Given the description of an element on the screen output the (x, y) to click on. 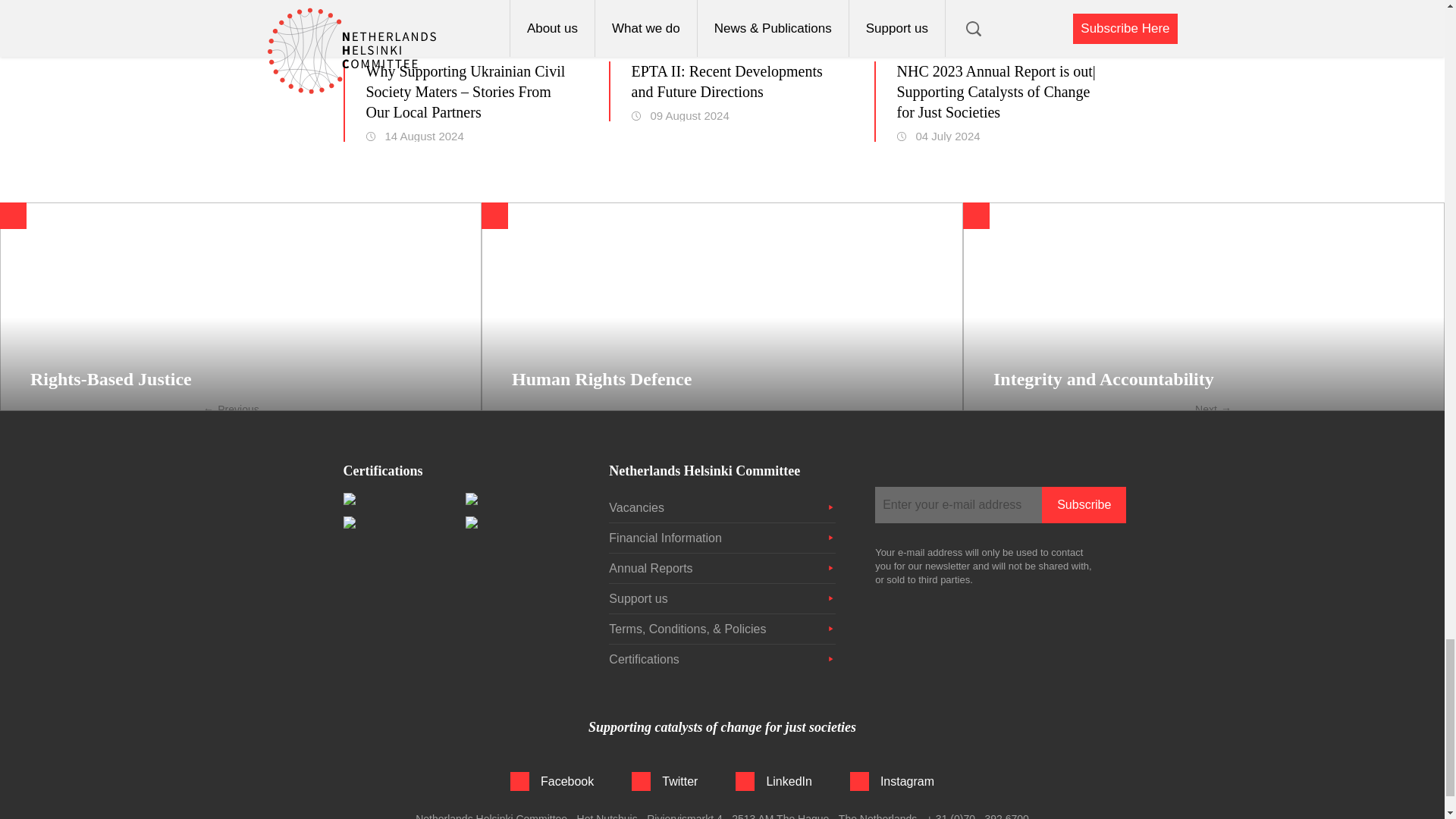
Rights-Based Justice (240, 306)
Subscribe (1083, 504)
EPTA II: Recent Developments and Future Directions (732, 81)
Human Rights Defence (721, 306)
